Given the description of an element on the screen output the (x, y) to click on. 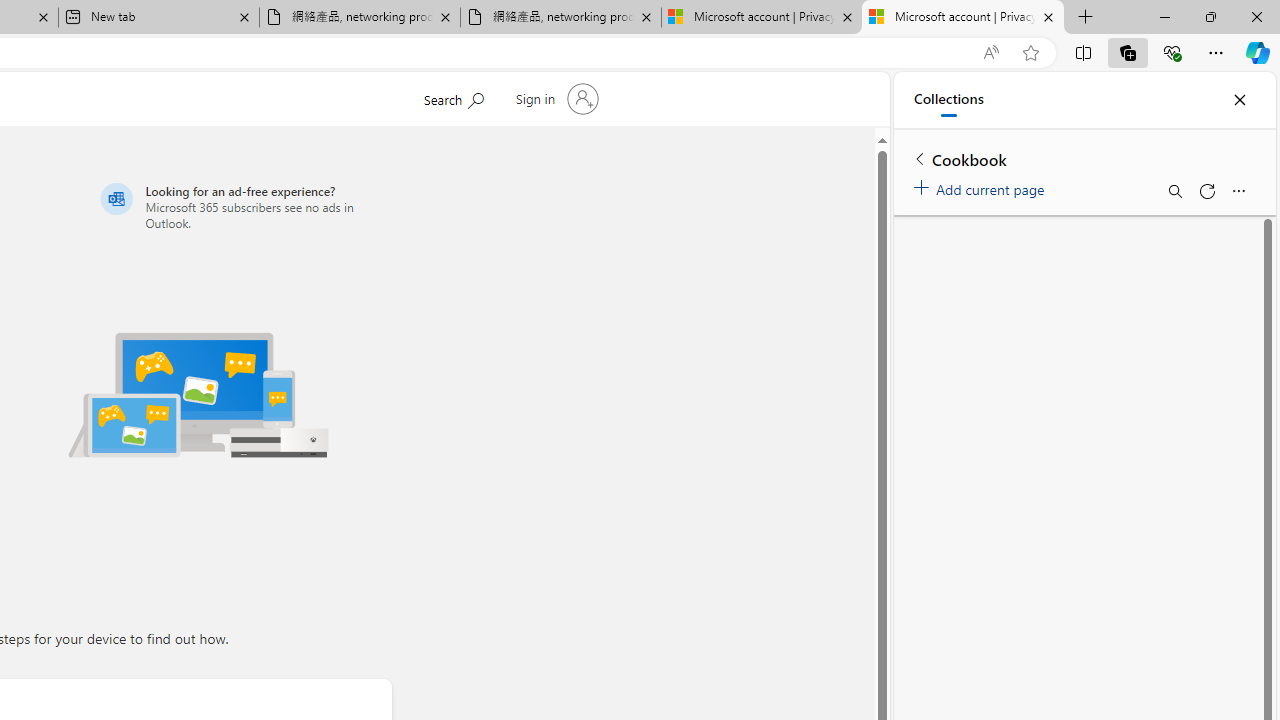
Sign in to your account (554, 98)
Add current page (982, 186)
